Given the description of an element on the screen output the (x, y) to click on. 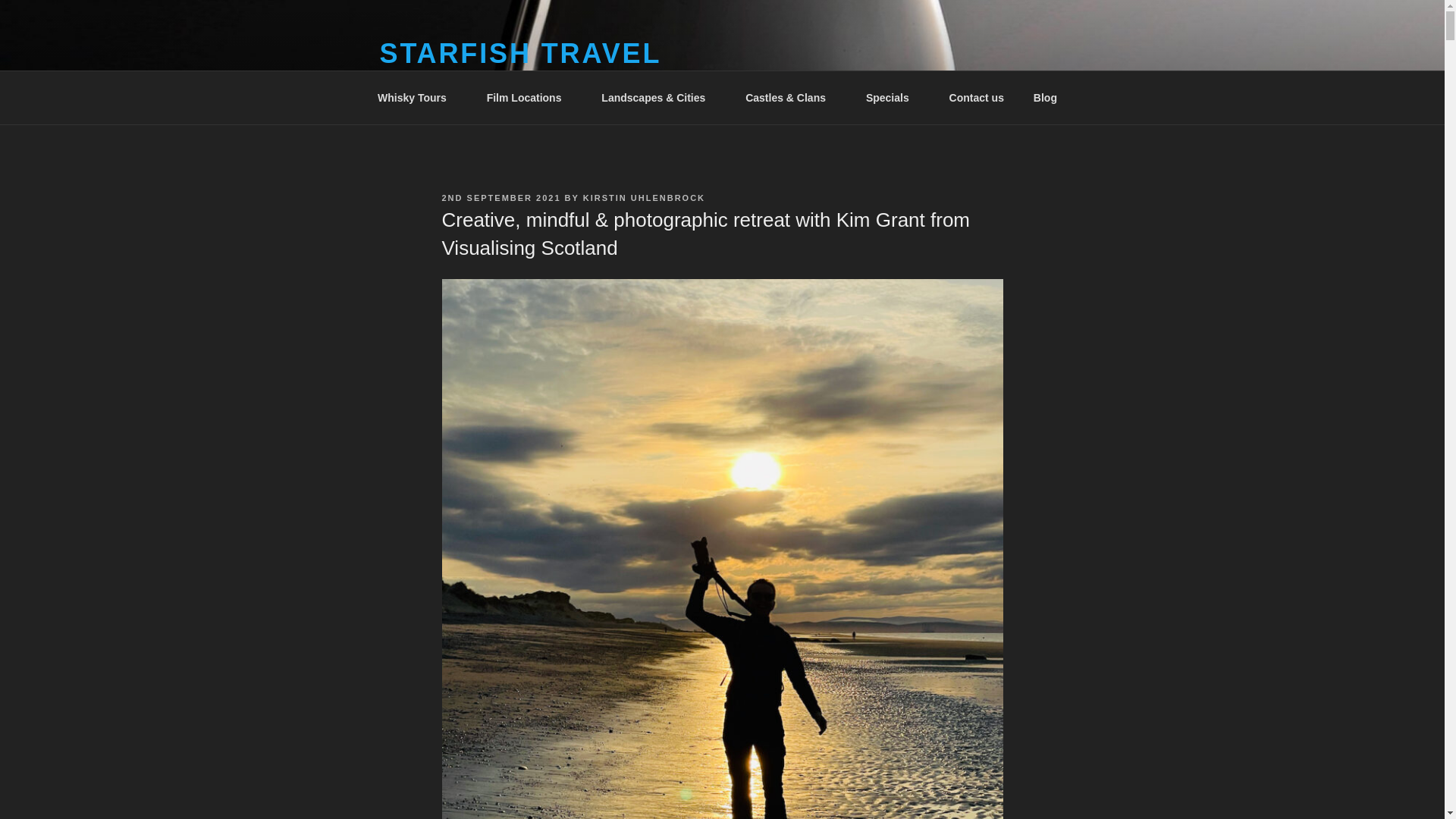
Film Locations (529, 97)
Specials (892, 97)
STARFISH TRAVEL (519, 52)
Whisky Tours (417, 97)
